Given the description of an element on the screen output the (x, y) to click on. 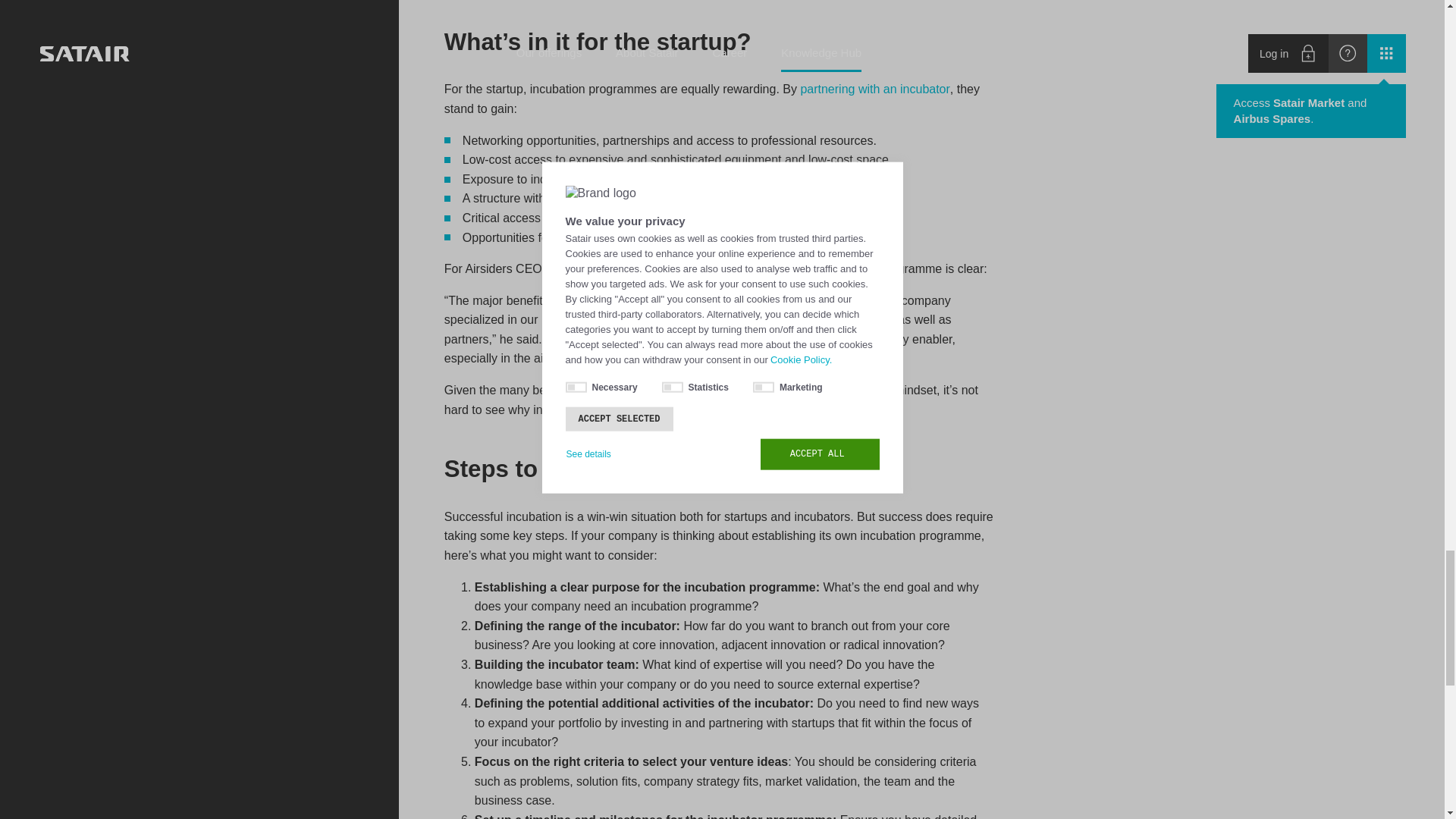
partnering with an incubator (874, 88)
